Given the description of an element on the screen output the (x, y) to click on. 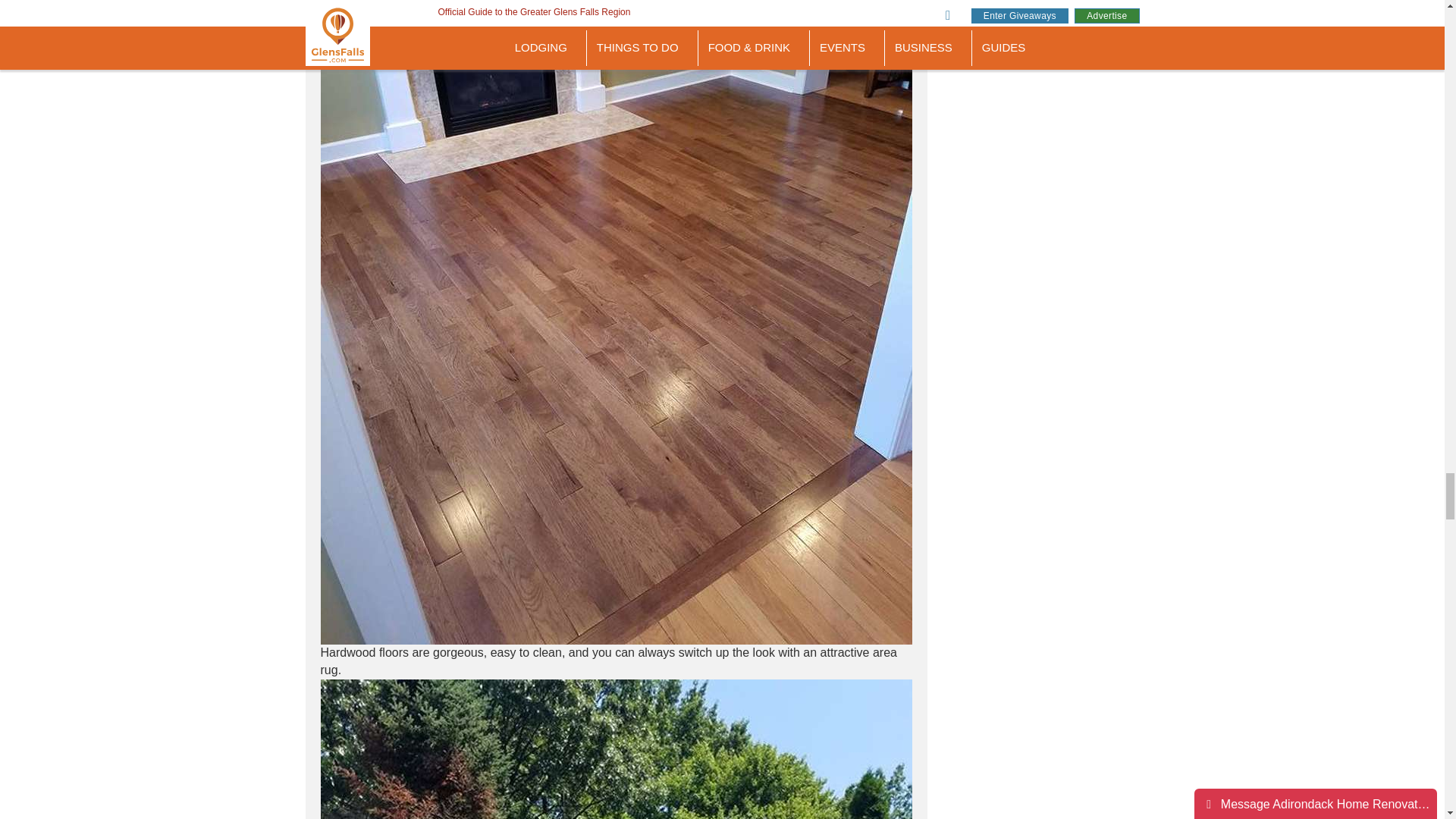
A new shed was just the answer for more storage space (615, 749)
